Given the description of an element on the screen output the (x, y) to click on. 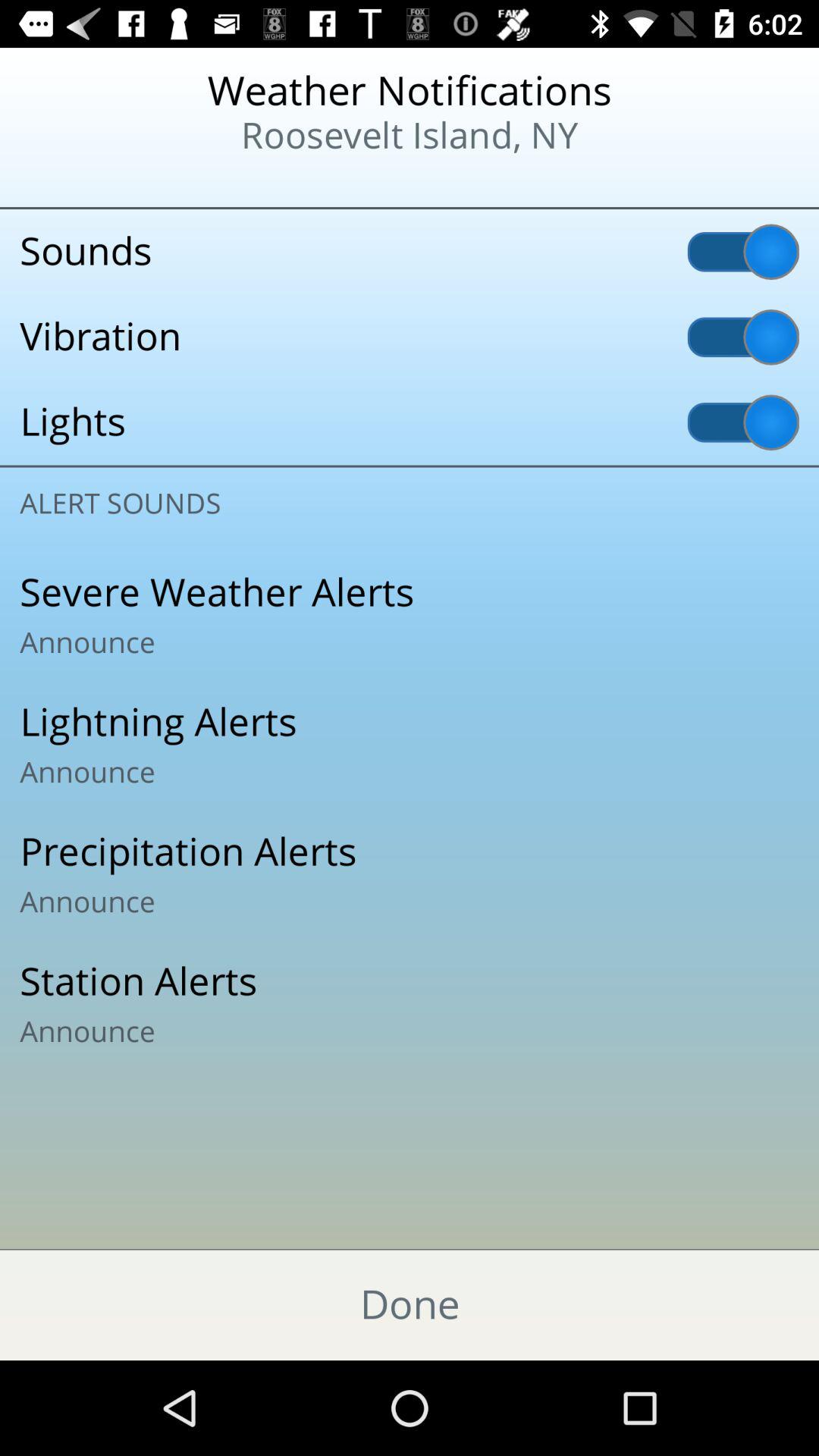
flip to severe weather alerts icon (409, 615)
